Given the description of an element on the screen output the (x, y) to click on. 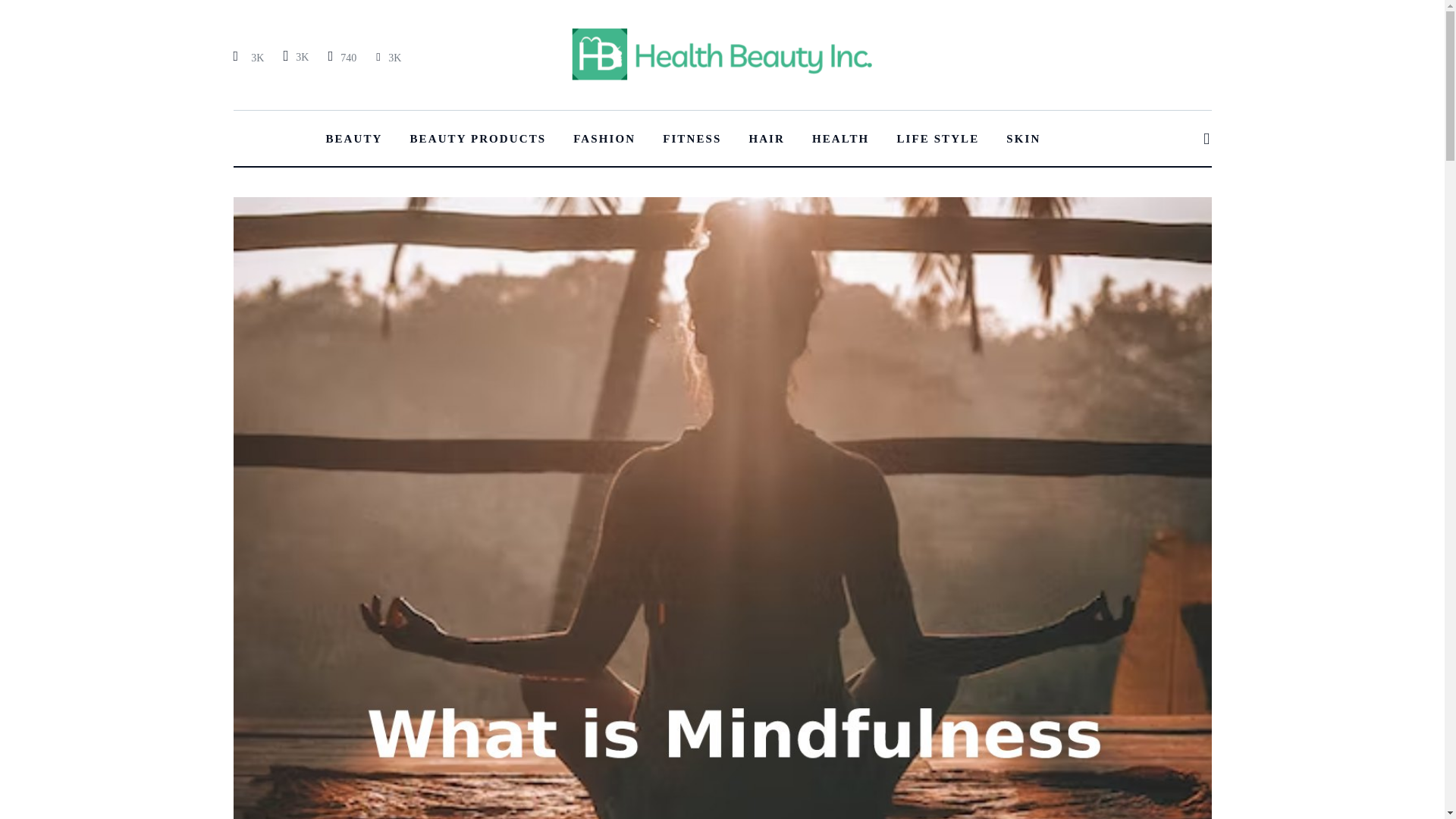
740 (342, 57)
FASHION (604, 138)
HAIR (766, 138)
LIFE STYLE (937, 138)
HEALTH (839, 138)
SKIN (1023, 138)
FITNESS (692, 138)
BEAUTY (353, 138)
BEAUTY PRODUCTS (477, 138)
3K (295, 56)
3K (388, 57)
3K (249, 57)
